Given the description of an element on the screen output the (x, y) to click on. 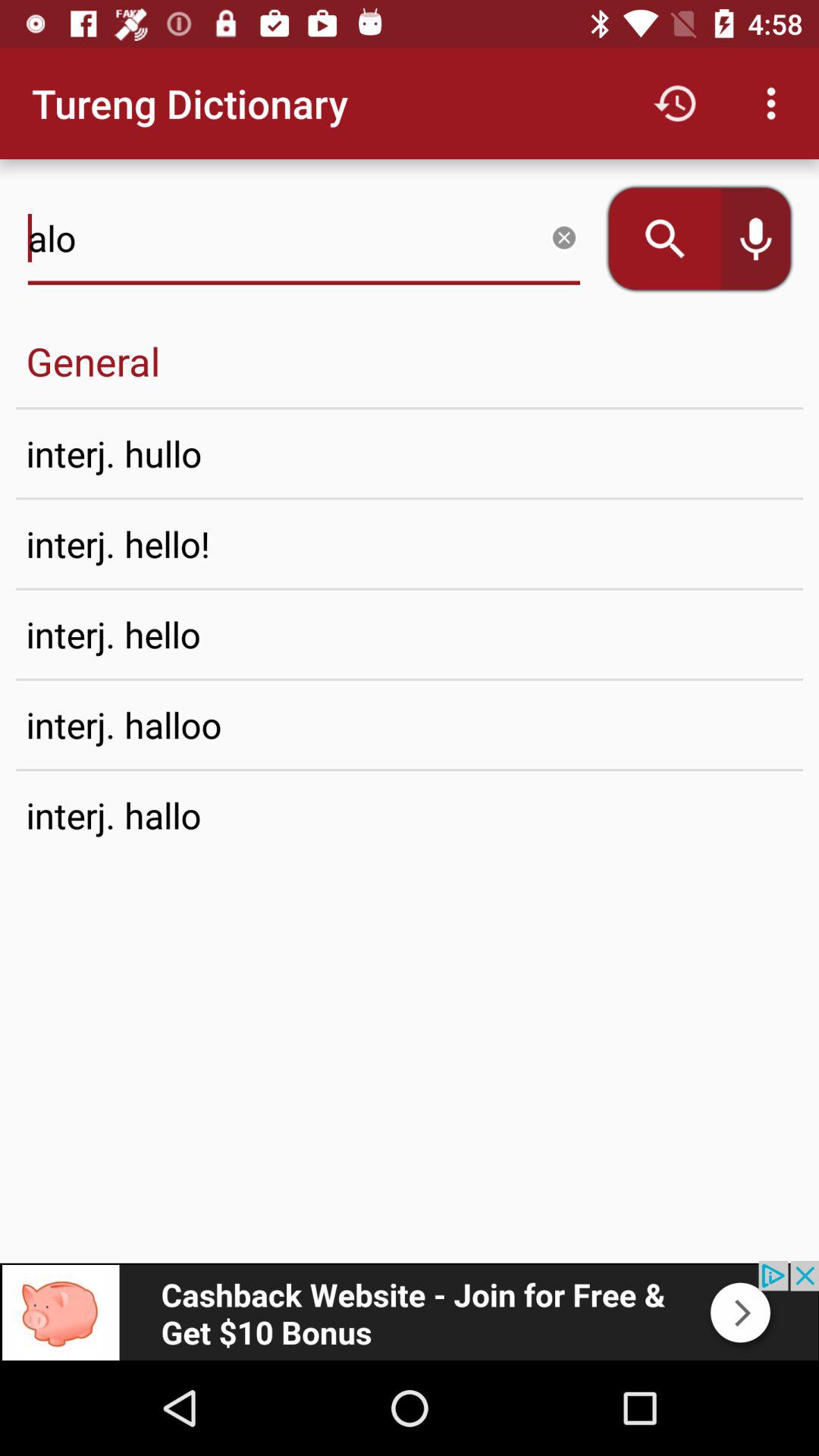
connect to advertisement (409, 1310)
